Given the description of an element on the screen output the (x, y) to click on. 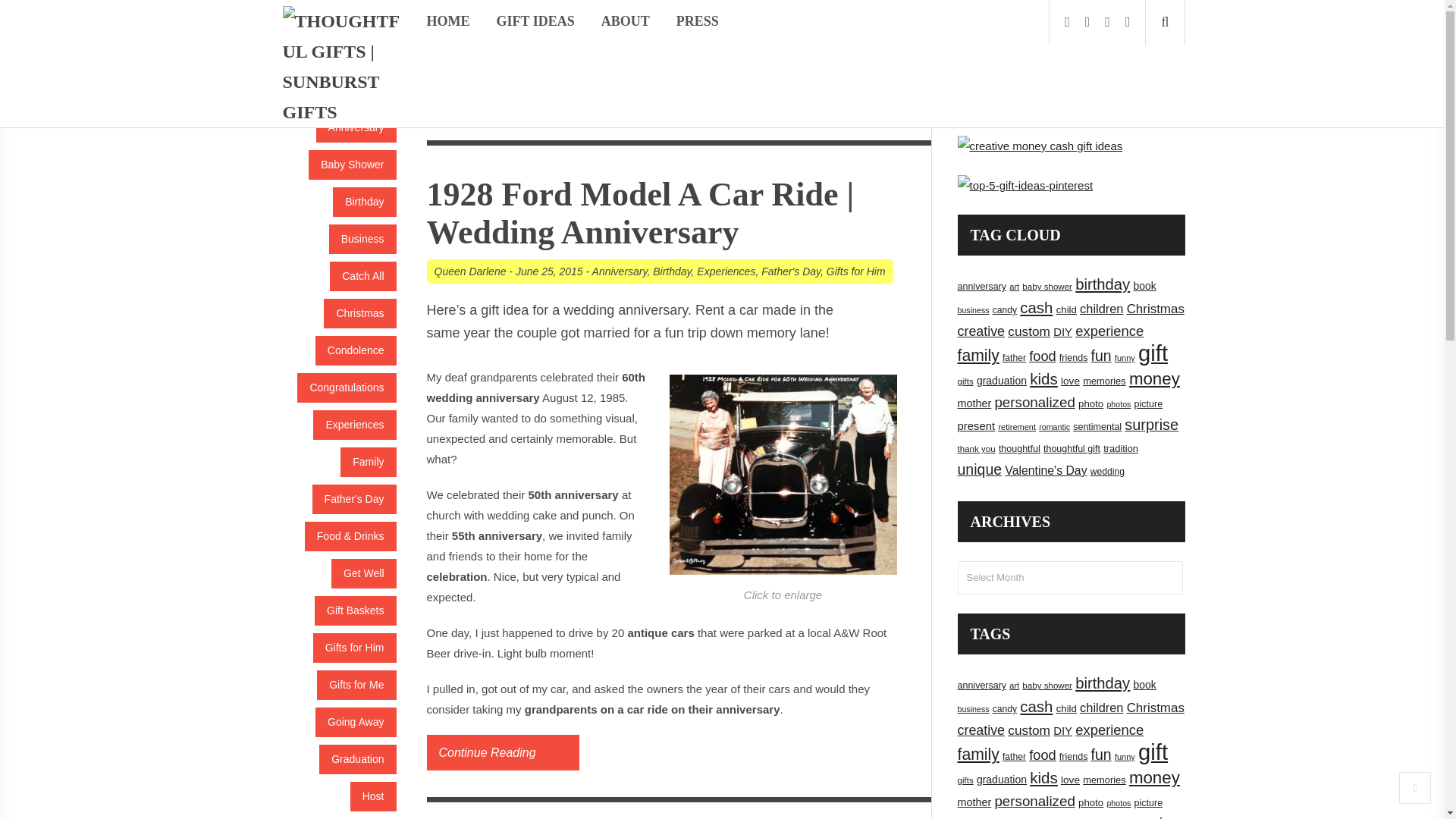
Father's Day (354, 499)
Anniversary (355, 127)
Christmas (359, 313)
Going Away (355, 722)
Graduation (357, 758)
Experiences (354, 424)
Gift Baskets (355, 610)
Condolence (355, 350)
Family (368, 461)
Posts by Queen Darlene (469, 271)
